Given the description of an element on the screen output the (x, y) to click on. 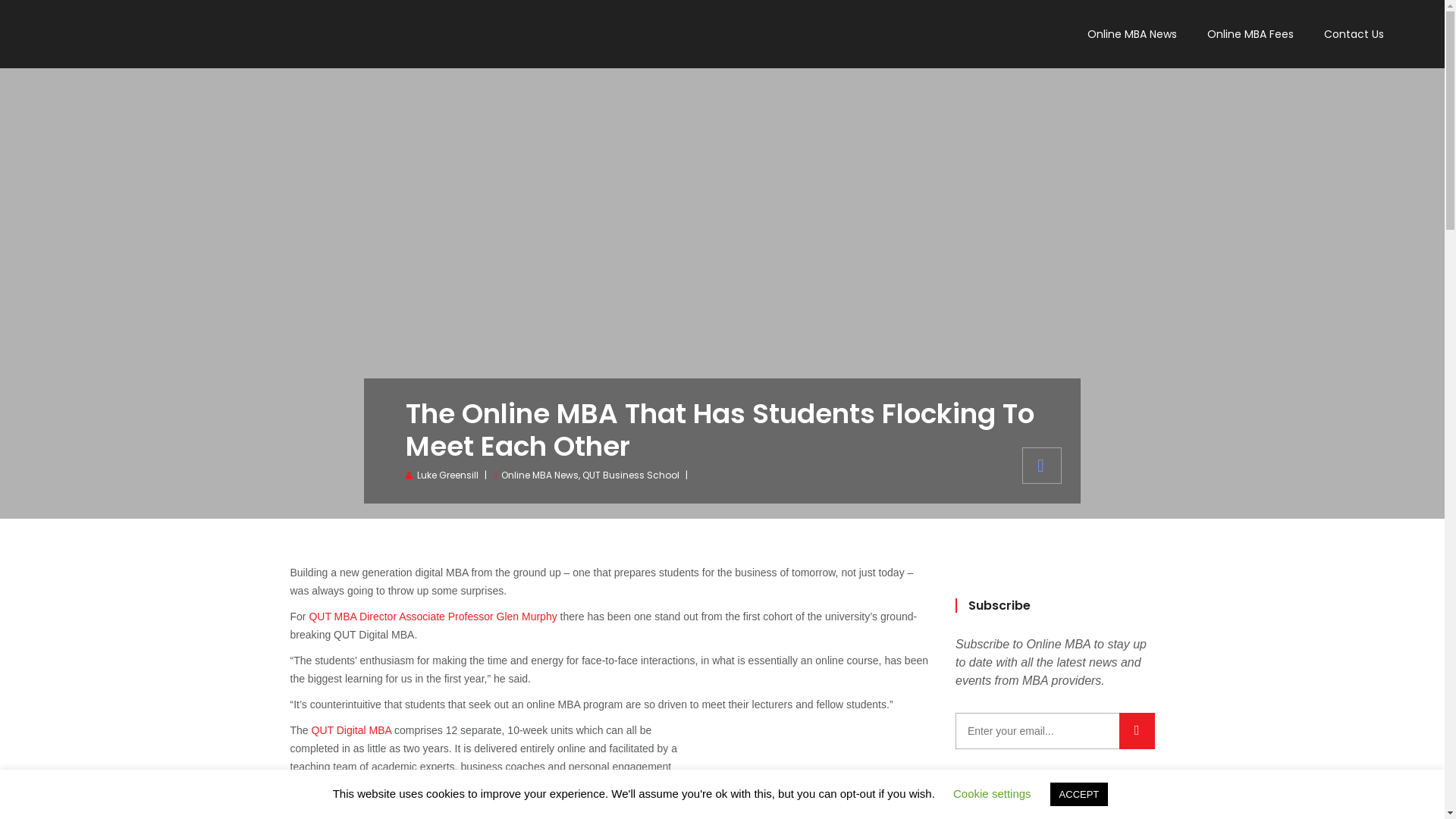
Luke Greensill Element type: text (447, 474)
QUT MBA Director Associate Professor Glen Murphy Element type: text (432, 616)
Cookie settings Element type: text (992, 793)
Online MBA Fees Element type: text (1250, 34)
Contact Us Element type: text (1353, 34)
ACCEPT Element type: text (1079, 794)
Online MBA News Element type: text (1132, 34)
Online MBA News Element type: text (539, 474)
QUT Business School Element type: text (630, 474)
Send Element type: text (1136, 730)
QUT Digital MBA Element type: text (351, 730)
